Given the description of an element on the screen output the (x, y) to click on. 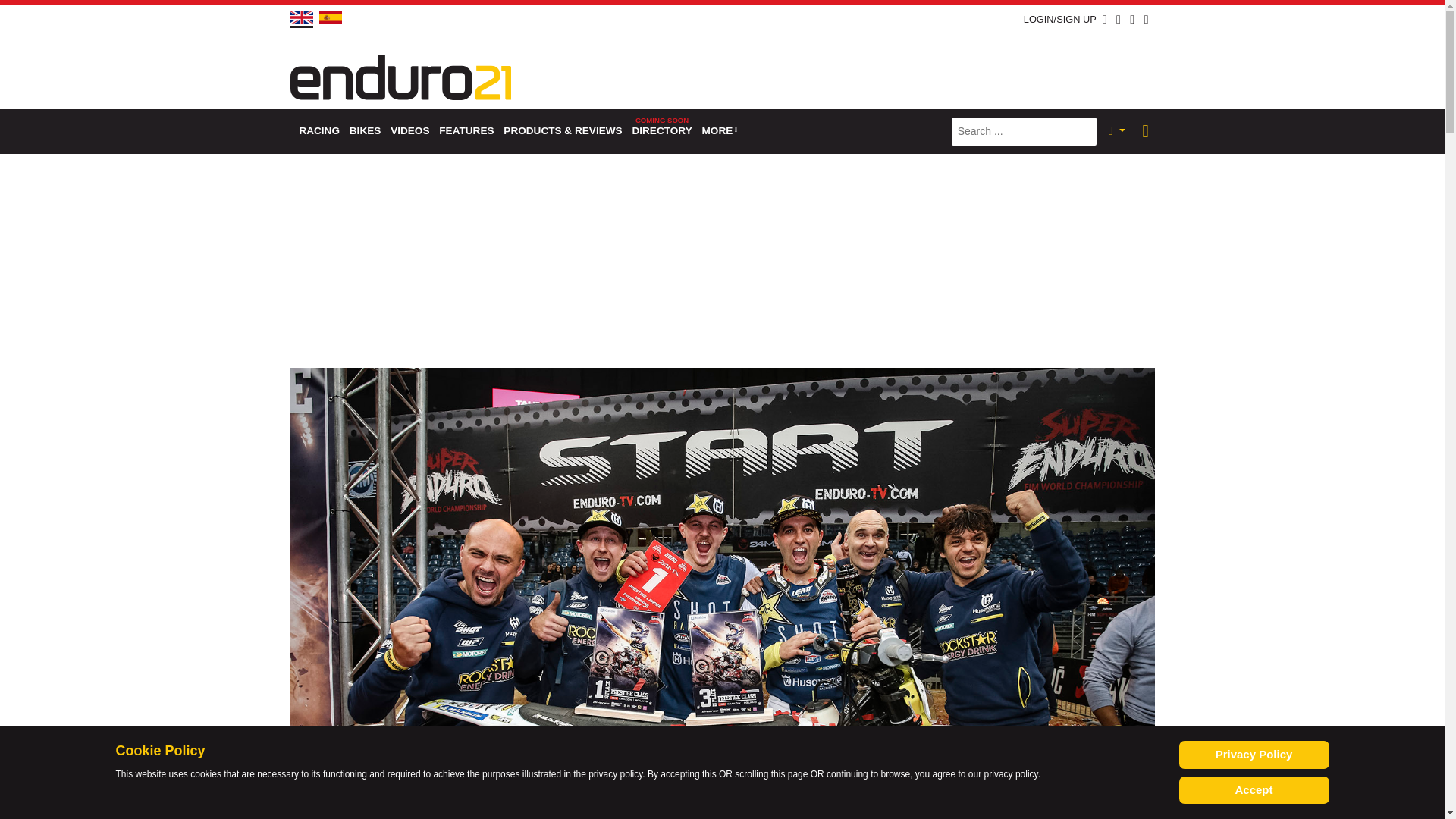
RACING (318, 130)
DIRECTORY (662, 130)
MORE (719, 130)
BIKES (364, 130)
VIDEOS (409, 130)
3rd party ad content (878, 69)
FEATURES (466, 130)
